Given the description of an element on the screen output the (x, y) to click on. 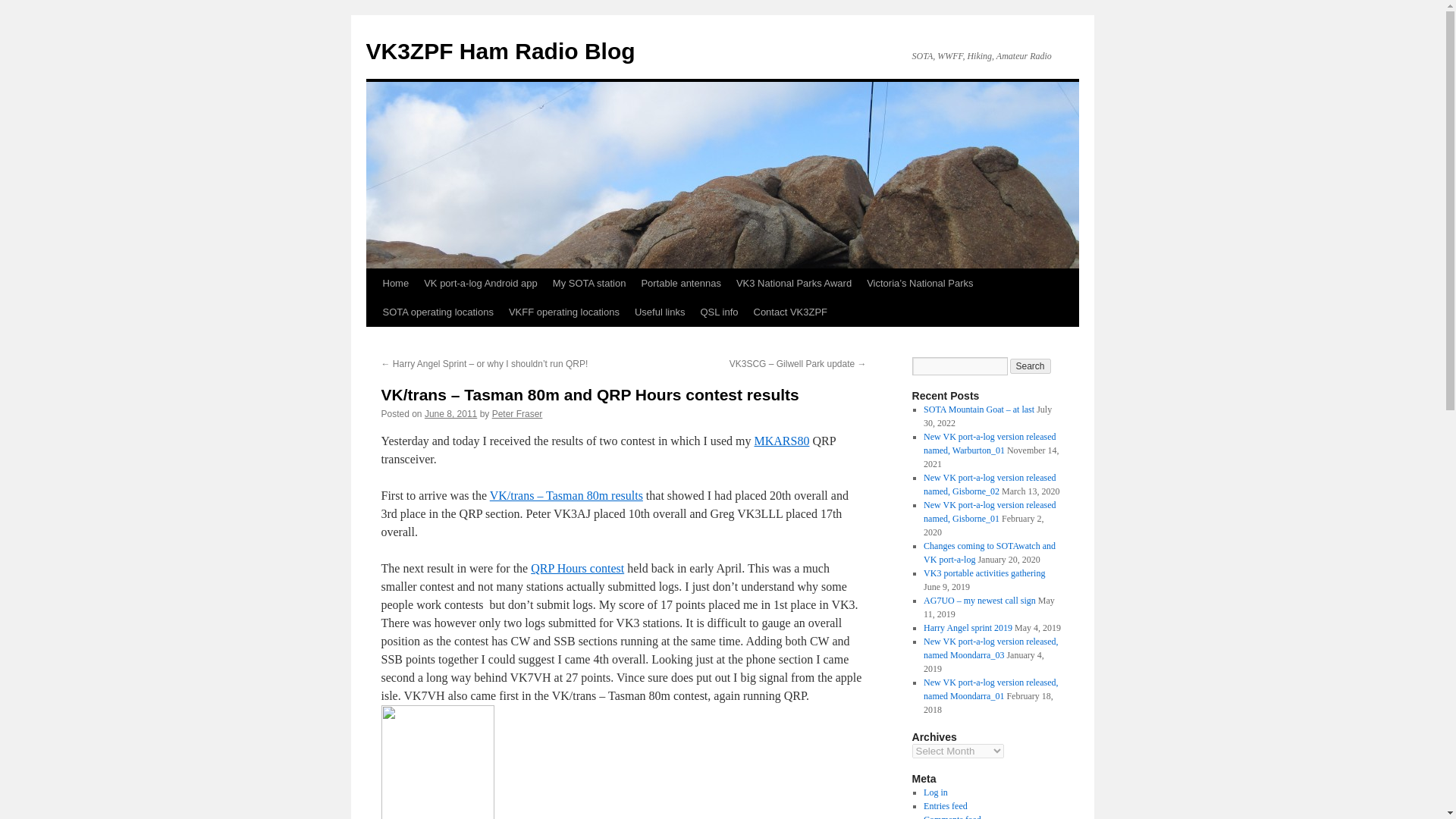
Peter Fraser (517, 413)
View all posts by Peter Fraser (517, 413)
Home (395, 283)
Harry Angel sprint 2019 (967, 627)
VKFF operating locations (563, 312)
VK3ZPF Ham Radio Blog (499, 50)
June 8, 2011 (451, 413)
Useful links (660, 312)
VK3 portable activities gathering (984, 573)
Portable antennas (681, 283)
